Given the description of an element on the screen output the (x, y) to click on. 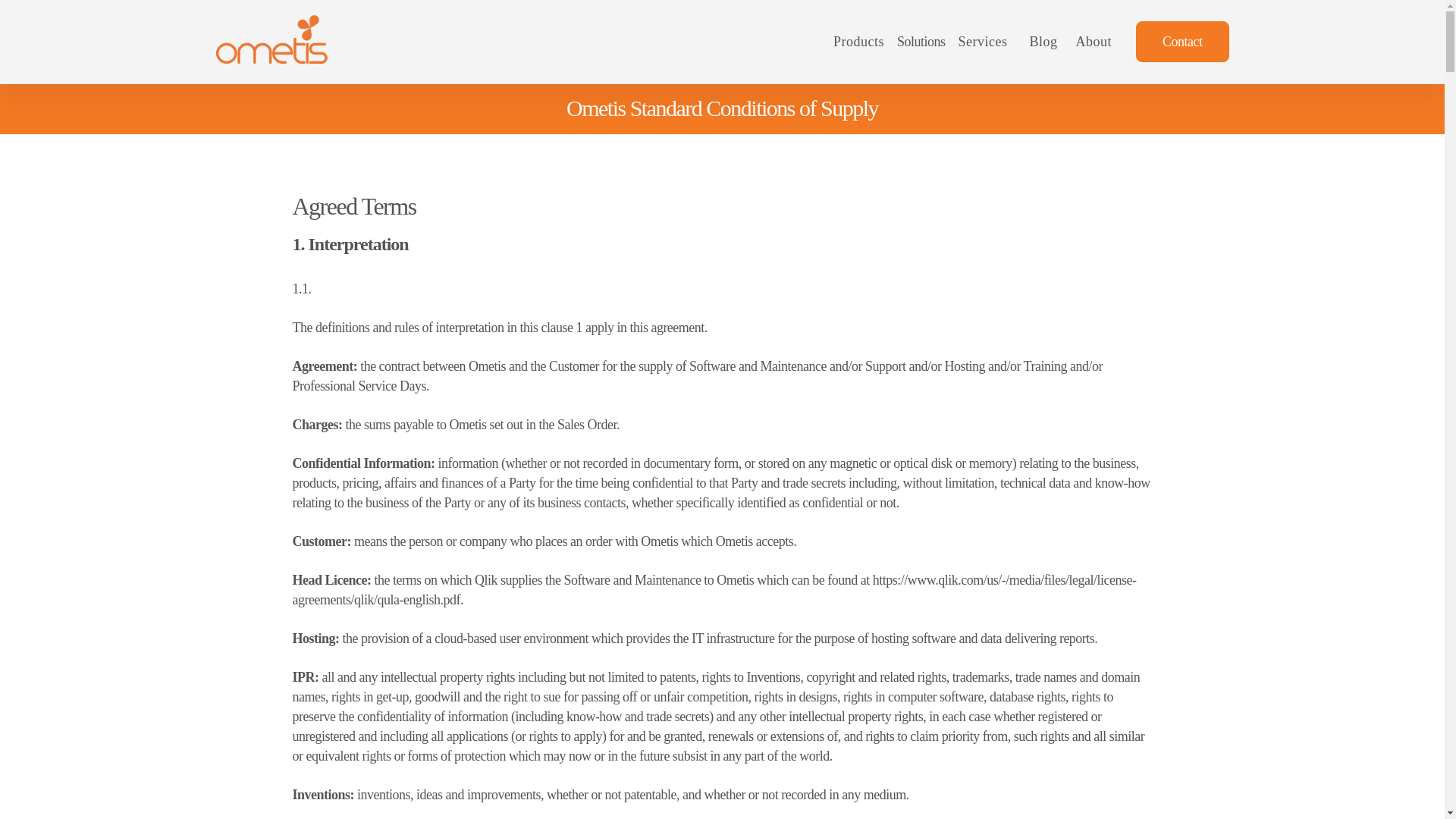
Services (984, 41)
Solutions (922, 40)
Ometis orange transparent logo (270, 39)
Products (860, 41)
Contact (1181, 41)
Blog (1042, 41)
About (1093, 41)
